Given the description of an element on the screen output the (x, y) to click on. 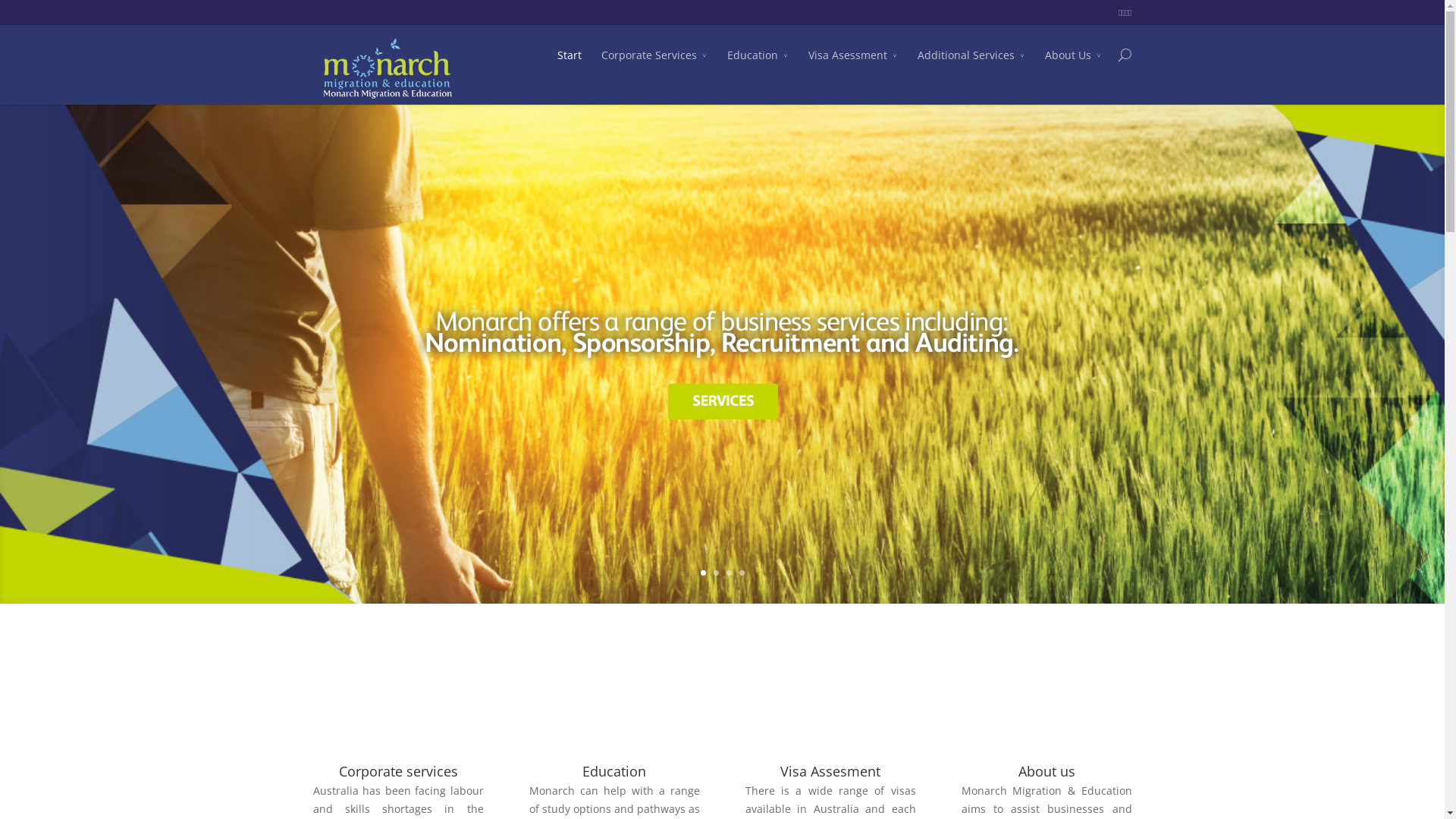
Start Element type: text (568, 65)
About Us Element type: text (1072, 65)
Visa Asessment Element type: text (852, 65)
Additional Services Element type: text (971, 65)
Corporate Services Element type: hover (721, 401)
1 Element type: text (703, 572)
Corporate services Element type: text (397, 771)
Education Element type: text (614, 771)
About us Element type: text (1045, 771)
Visa Assesment Element type: text (830, 771)
Corporate Services Element type: text (653, 65)
2 Element type: text (715, 572)
3 Element type: text (728, 572)
Education Element type: text (756, 65)
4 Element type: text (740, 572)
